Given the description of an element on the screen output the (x, y) to click on. 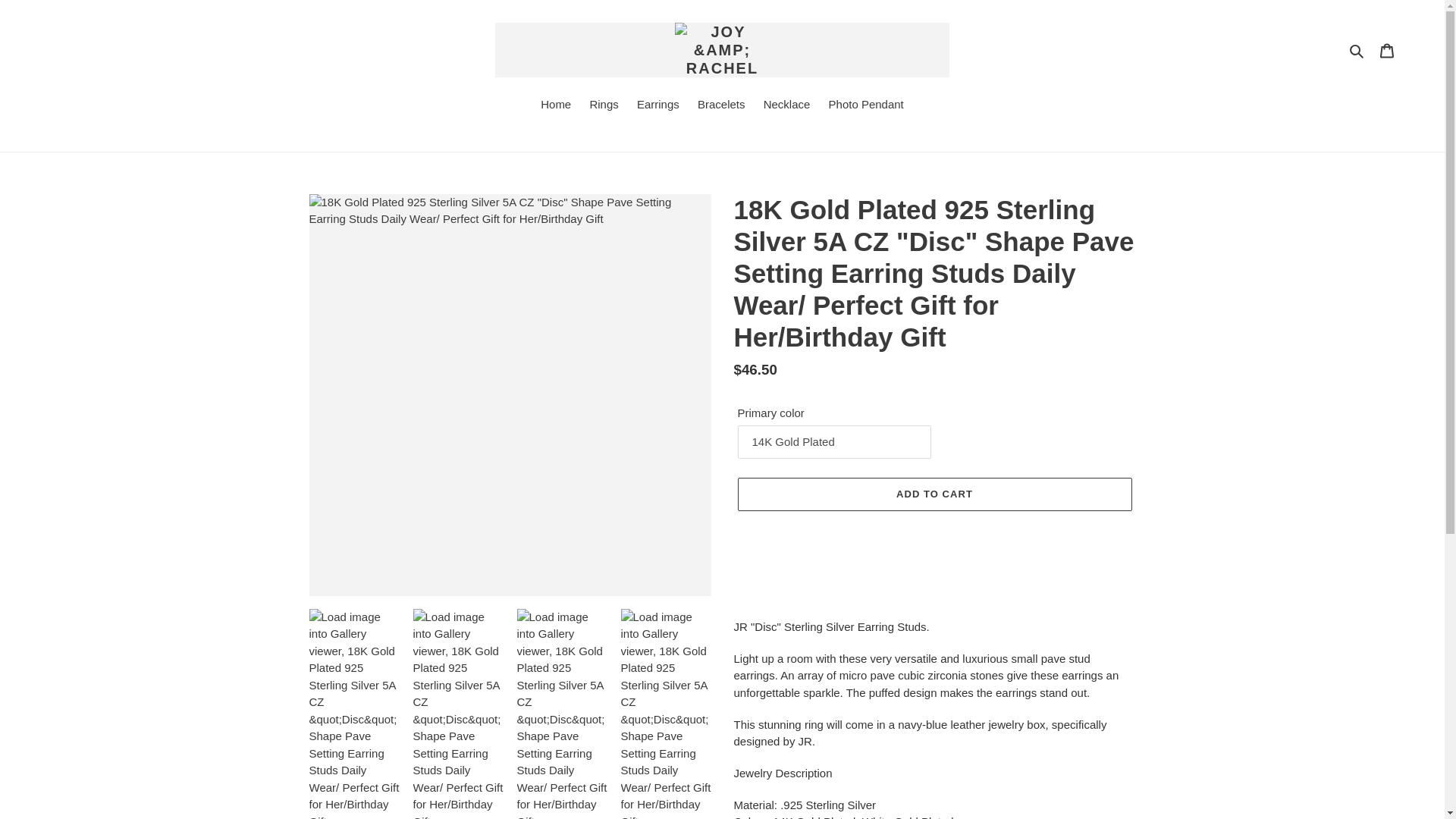
Search (1357, 49)
Rings (603, 106)
Photo Pendant (866, 106)
Earrings (657, 106)
Bracelets (721, 106)
Cart (1387, 50)
ADD TO CART (933, 494)
Necklace (786, 106)
Home (555, 106)
